Given the description of an element on the screen output the (x, y) to click on. 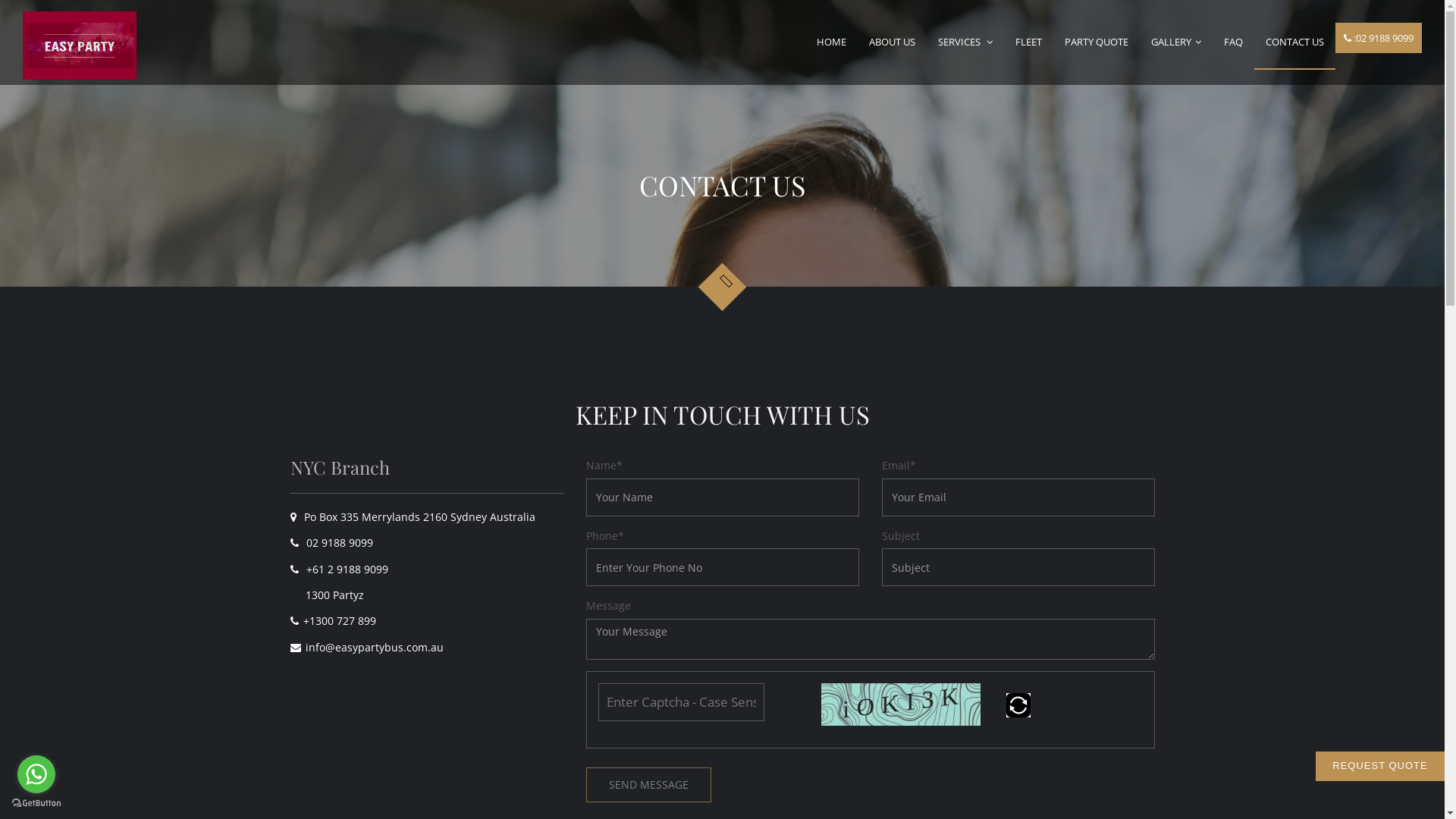
SERVICES Element type: text (965, 41)
PARTY QUOTE Element type: text (1096, 41)
SEND MESSAGE Element type: text (647, 784)
info@easypartybus.com.au Element type: text (375, 647)
+61 2 9188 9099 Element type: text (349, 568)
ABOUT US Element type: text (891, 41)
REQUEST QUOTE Element type: text (1379, 766)
:02 9188 9099 Element type: text (1378, 37)
+1300 727 899 Element type: text (341, 620)
Po Box 335 Merrylands 2160 Sydney Australia Element type: text (414, 516)
FLEET Element type: text (1028, 41)
1300 Partyz Element type: text (328, 594)
GALLERY Element type: text (1175, 41)
CONTACT US Element type: text (1294, 41)
FAQ Element type: text (1233, 41)
HOME Element type: text (831, 41)
02 9188 9099 Element type: text (341, 542)
